Given the description of an element on the screen output the (x, y) to click on. 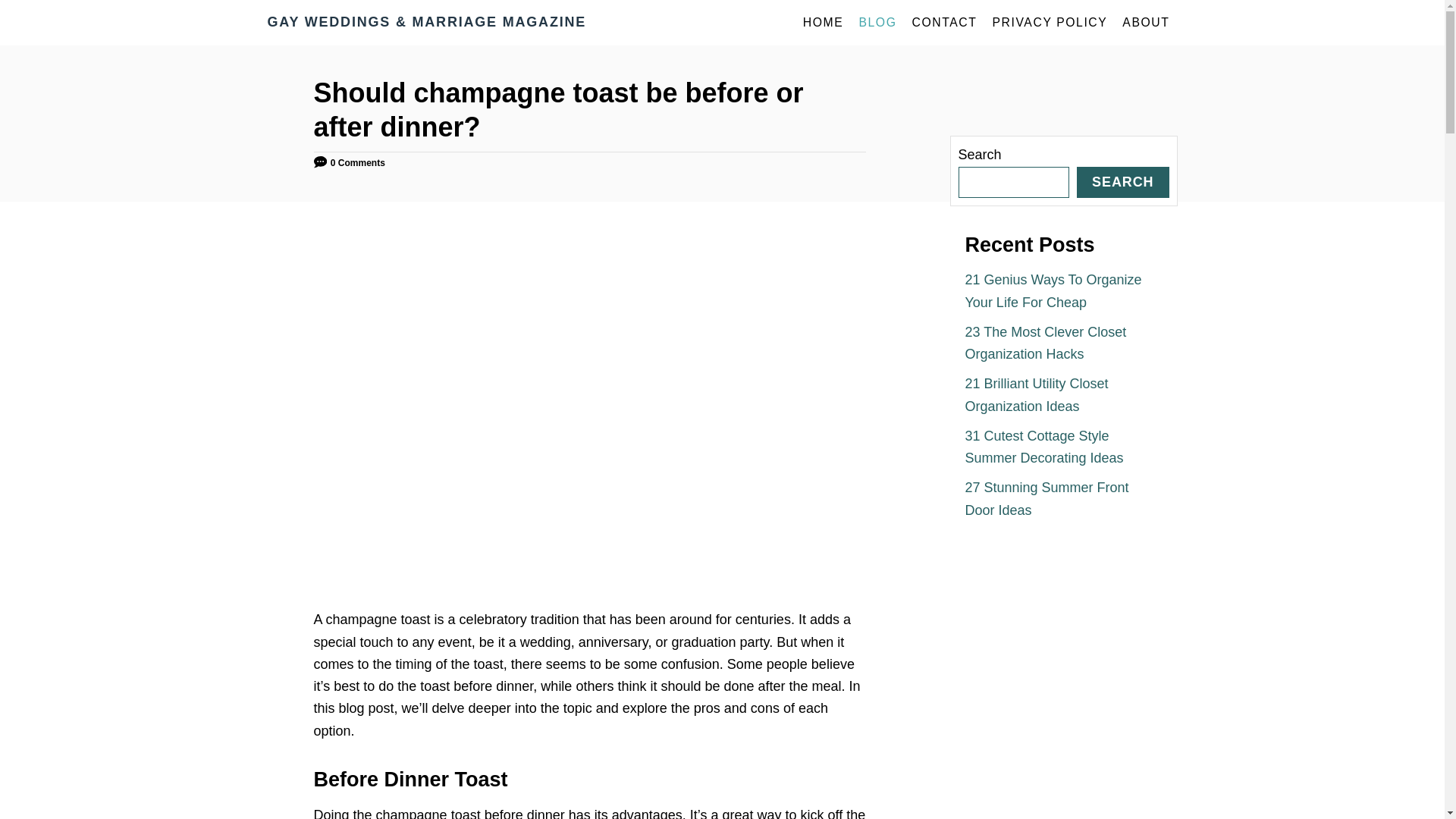
HOME (822, 22)
23 The Most Clever Closet Organization Hacks (1044, 342)
PRIVACY POLICY (1049, 22)
CONTACT (944, 22)
BLOG (877, 22)
21 Genius Ways To Organize Your Life For Cheap (1052, 290)
27 Stunning Summer Front Door Ideas (1045, 497)
SEARCH (1123, 182)
ABOUT (1145, 22)
31 Cutest Cottage Style Summer Decorating Ideas (1042, 447)
21 Brilliant Utility Closet Organization Ideas (1035, 394)
